Given the description of an element on the screen output the (x, y) to click on. 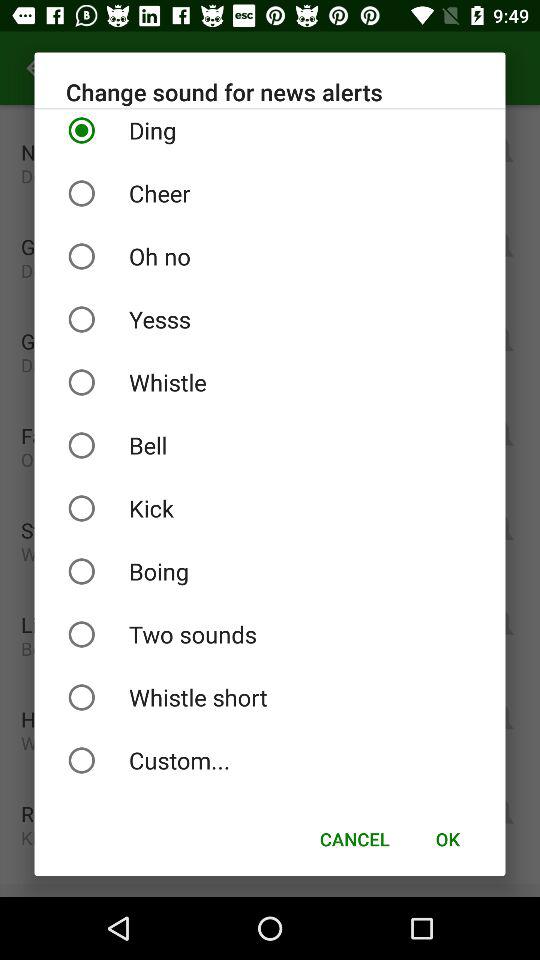
flip until ok item (447, 838)
